Given the description of an element on the screen output the (x, y) to click on. 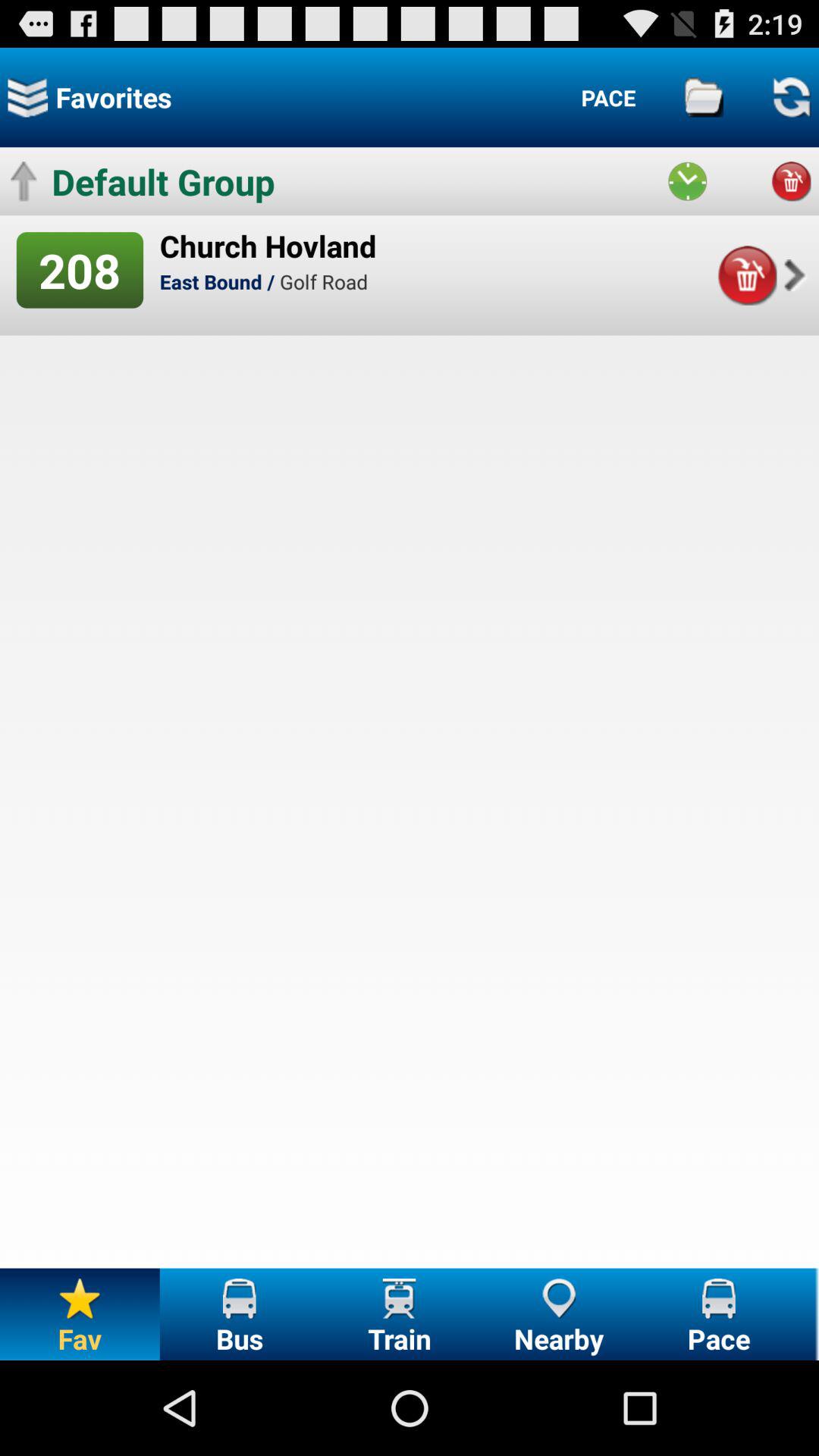
archived/ saved places (703, 97)
